Given the description of an element on the screen output the (x, y) to click on. 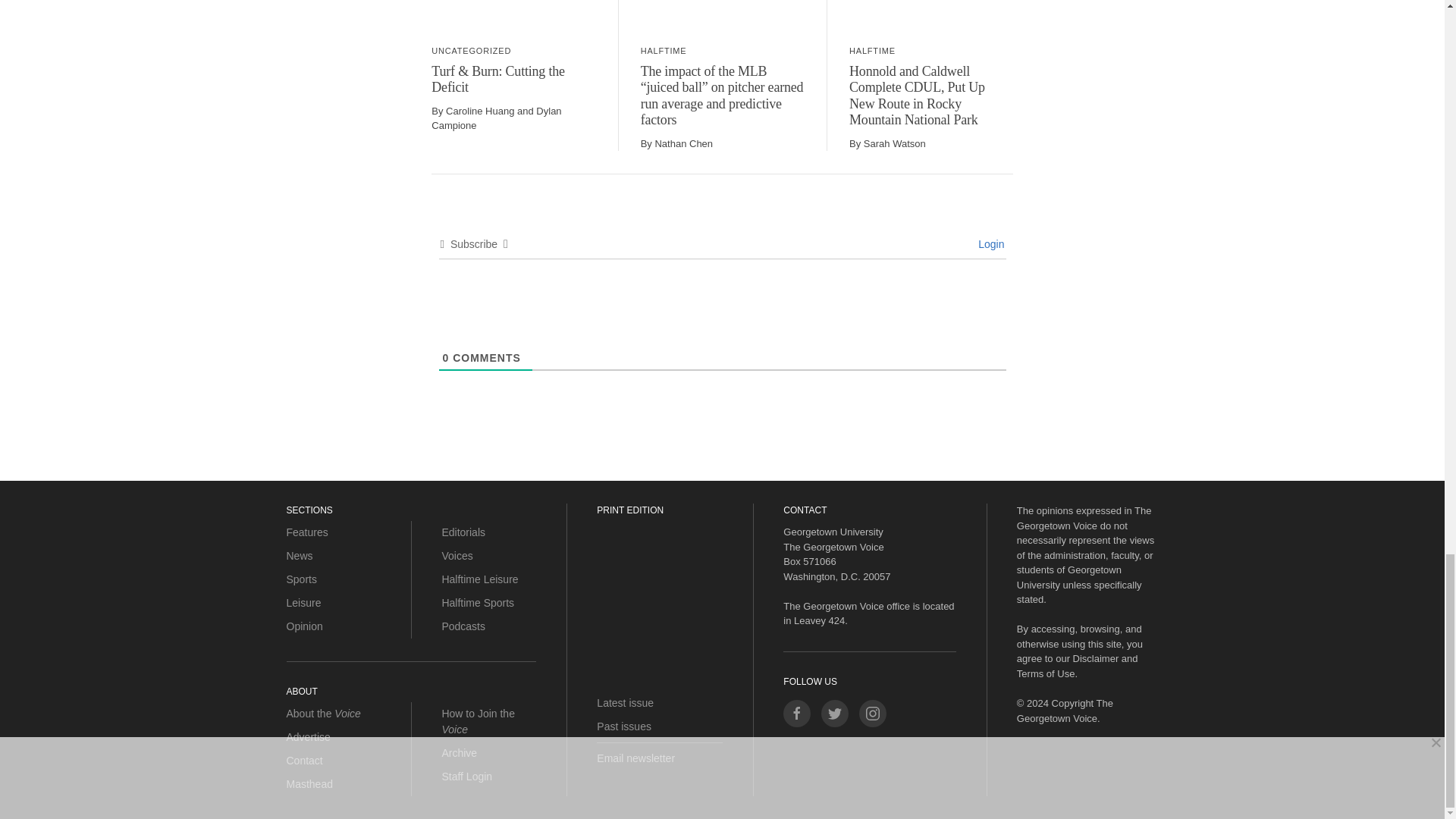
Posts by Nathan Chen (683, 143)
Posts by Dylan Campione (495, 118)
Posts by Caroline Huang (479, 111)
Posts by Sarah Watson (894, 143)
